Given the description of an element on the screen output the (x, y) to click on. 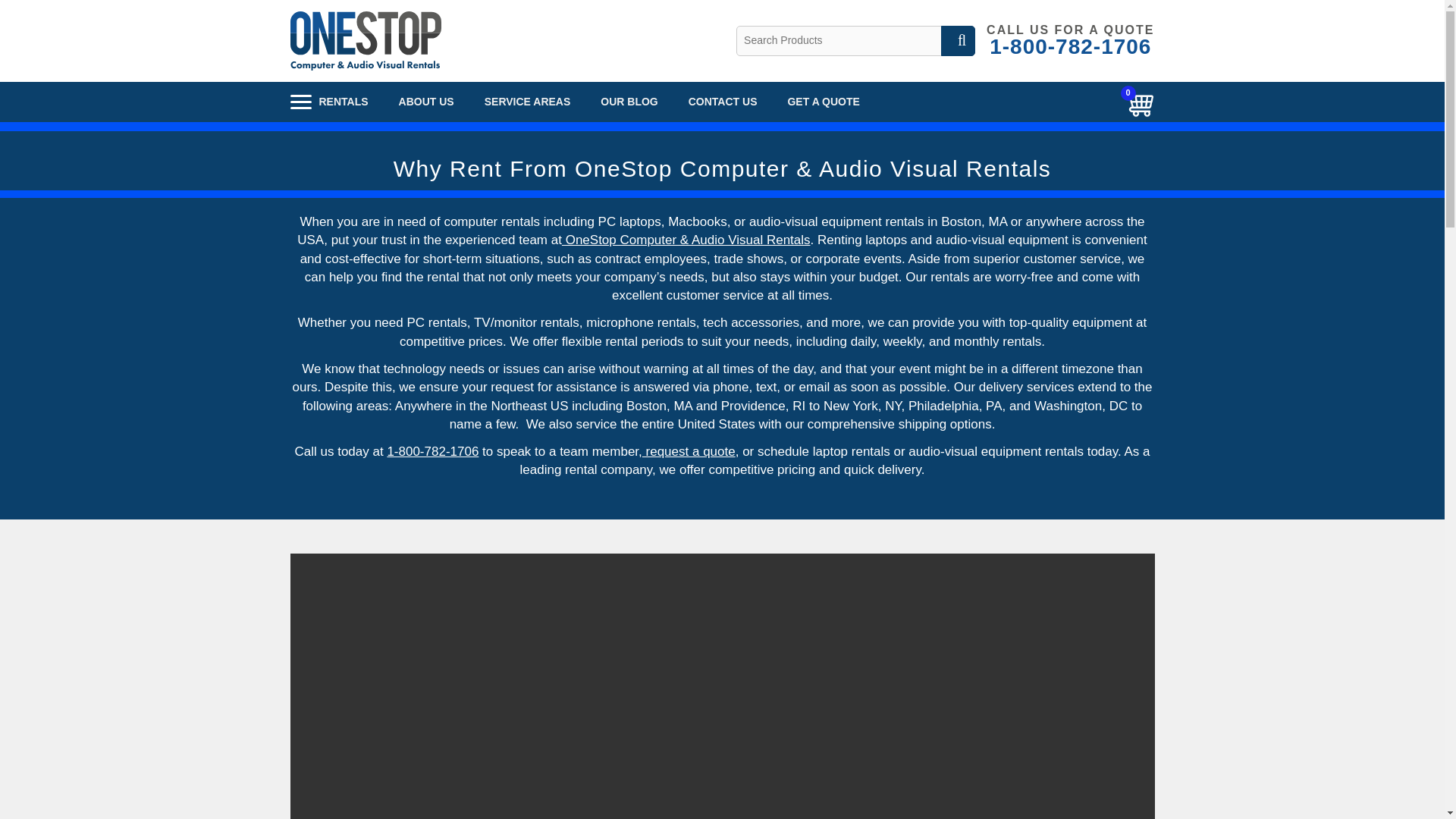
Search (957, 40)
Search (1064, 40)
RENTALS (957, 40)
